Given the description of an element on the screen output the (x, y) to click on. 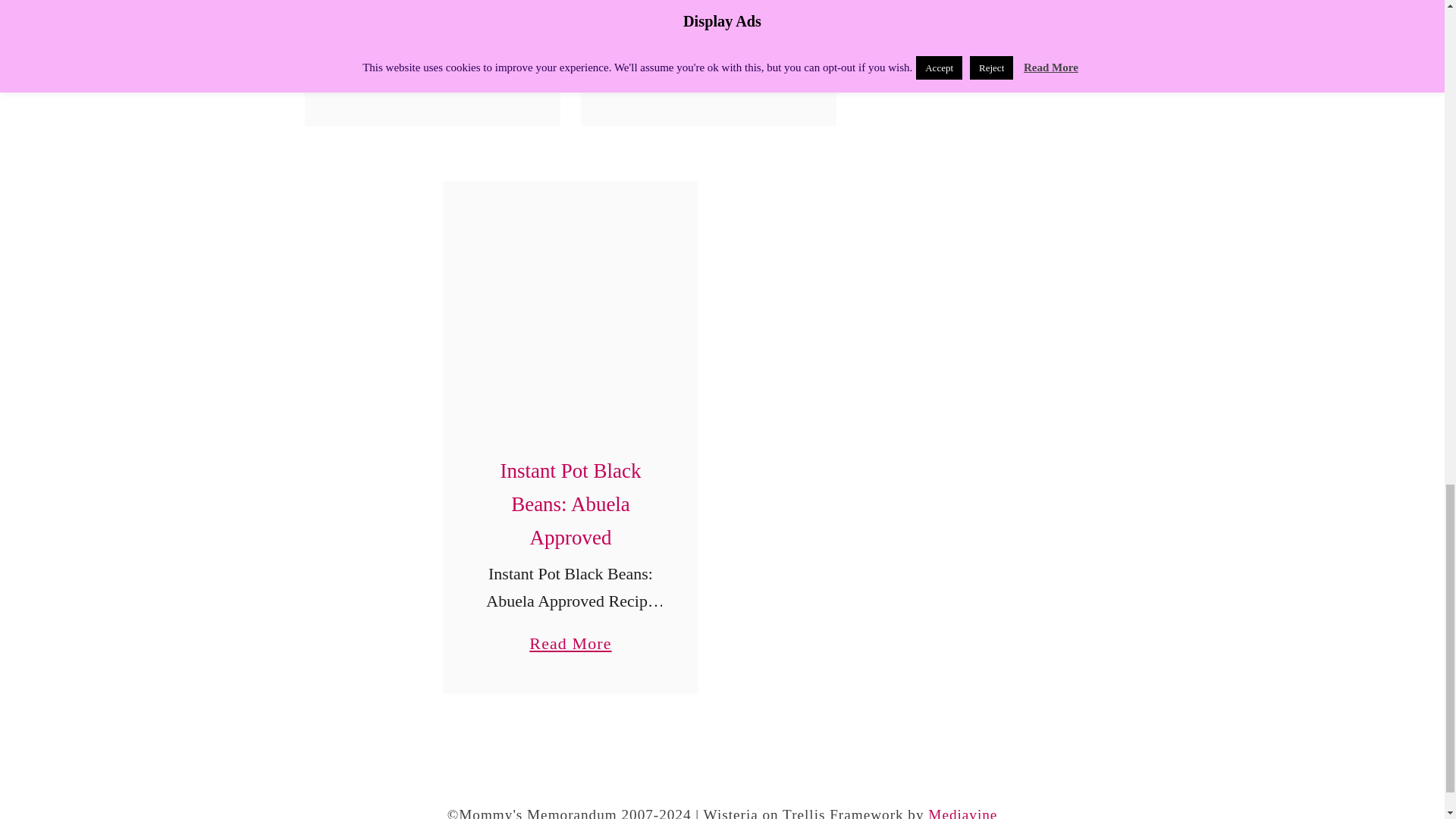
Instant Pot Black Beans: Abuela Approved (570, 308)
Instant Pot Black Beans: Abuela Approved (707, 68)
